Given the description of an element on the screen output the (x, y) to click on. 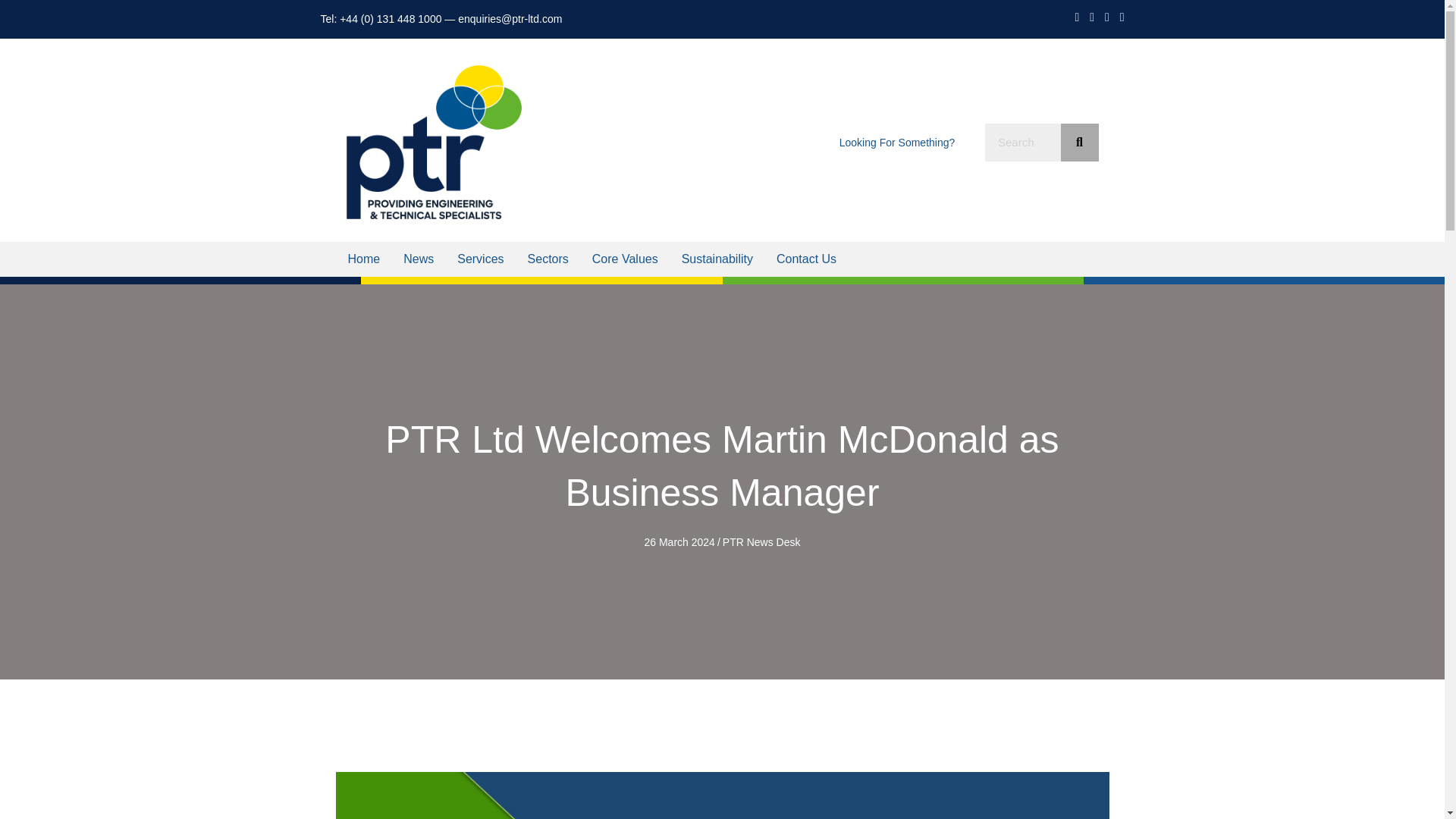
Core Values (624, 258)
Services (480, 258)
News (418, 258)
PTR News Desk (761, 541)
Sustainability (716, 258)
Home (363, 258)
Contact Us (806, 258)
Sectors (547, 258)
Search (1022, 142)
